Given the description of an element on the screen output the (x, y) to click on. 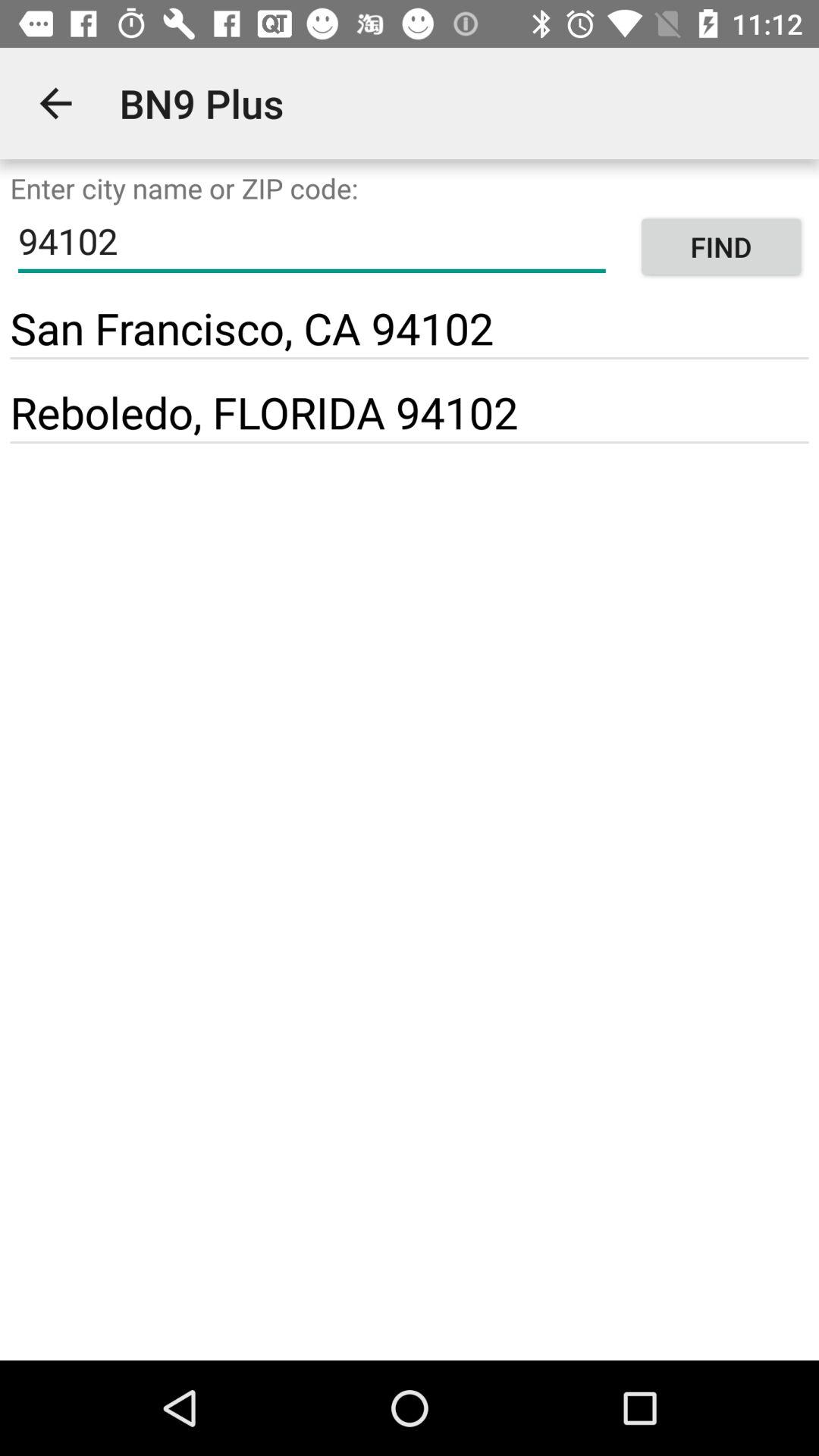
launch the item to the left of find icon (251, 327)
